Given the description of an element on the screen output the (x, y) to click on. 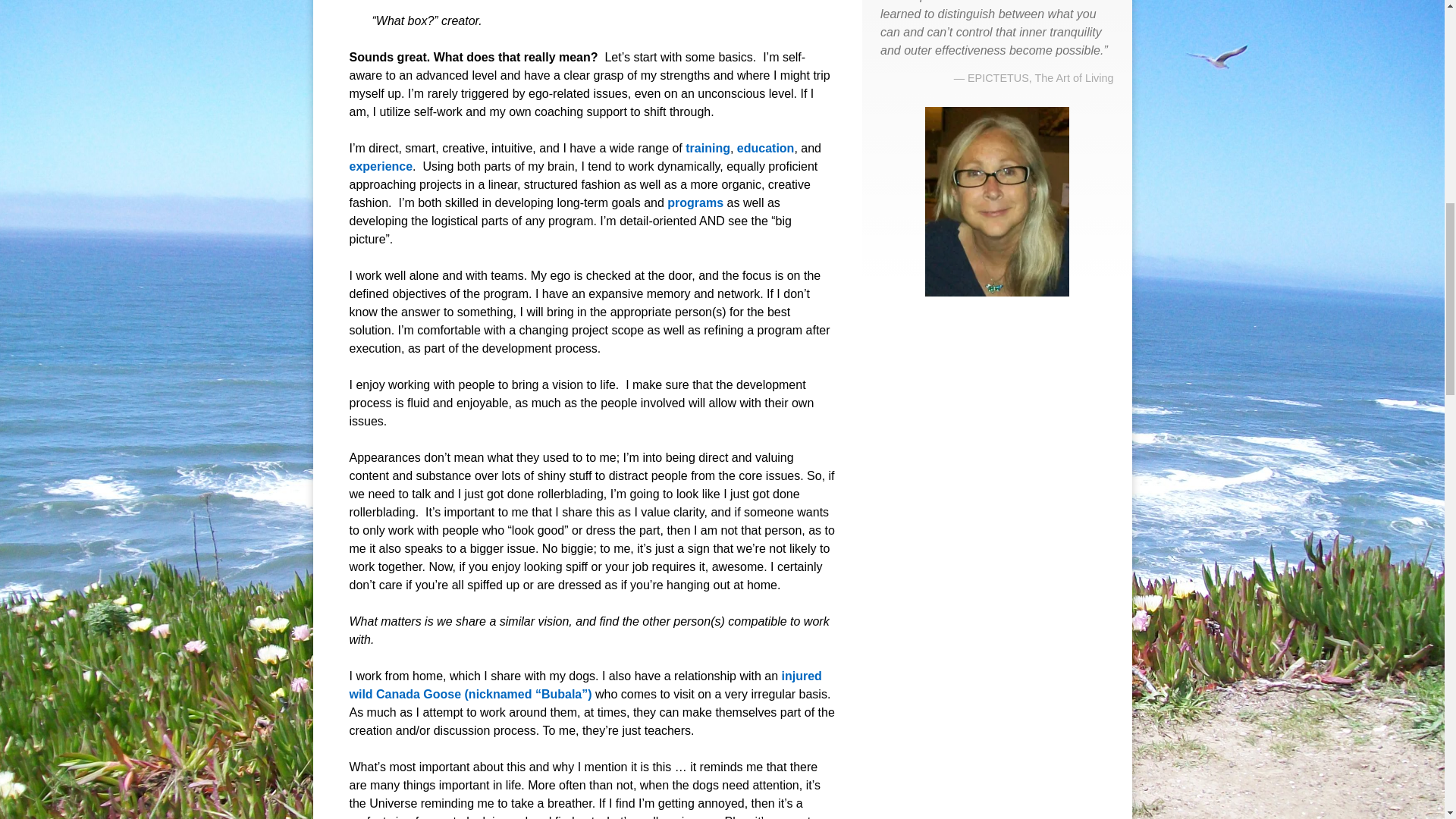
education (765, 147)
programs (694, 202)
experience (380, 165)
training (707, 147)
